Given the description of an element on the screen output the (x, y) to click on. 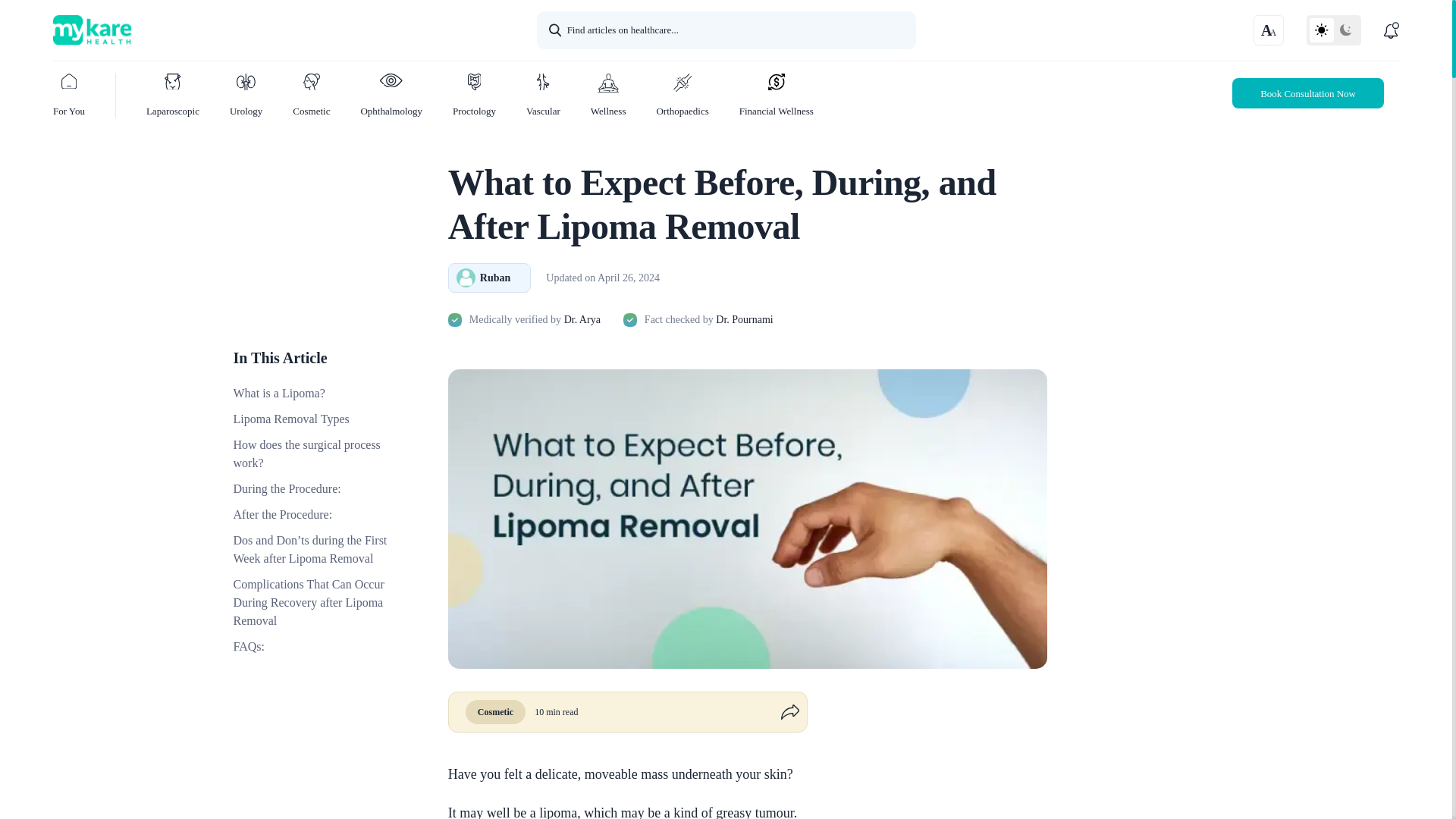
What is a Lipoma? (313, 393)
FAQs: (313, 647)
Orthopaedics (681, 88)
How does the surgical process work? (313, 453)
Light theme (1320, 30)
Lipoma Removal Types (313, 419)
Logo (221, 30)
Share button (775, 711)
During the Procedure: (313, 488)
